Given the description of an element on the screen output the (x, y) to click on. 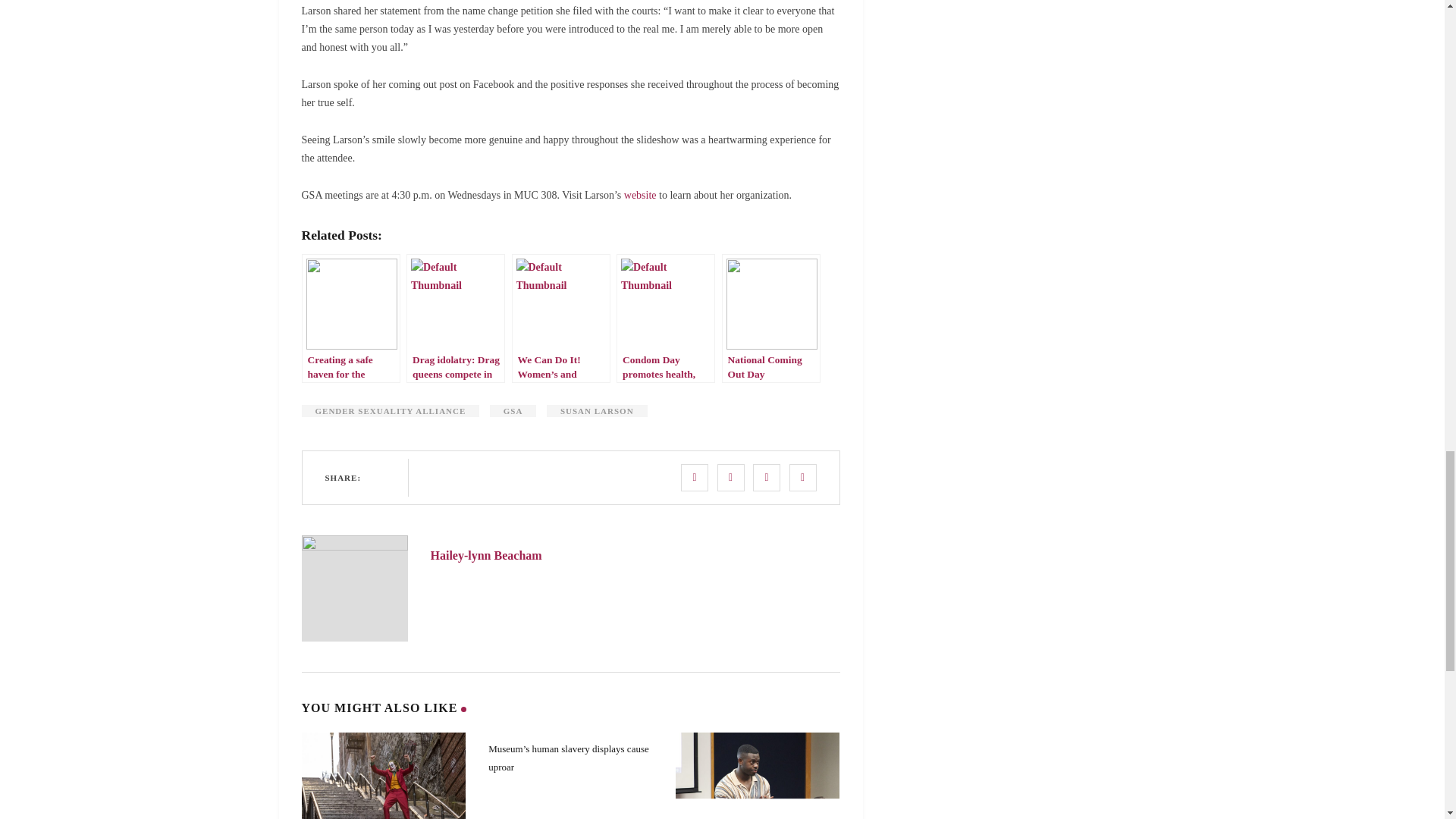
SUSAN LARSON (597, 410)
GENDER SEXUALITY ALLIANCE (390, 410)
Hailey-lynn Beacham (485, 554)
GSA (513, 410)
website (640, 194)
